Given the description of an element on the screen output the (x, y) to click on. 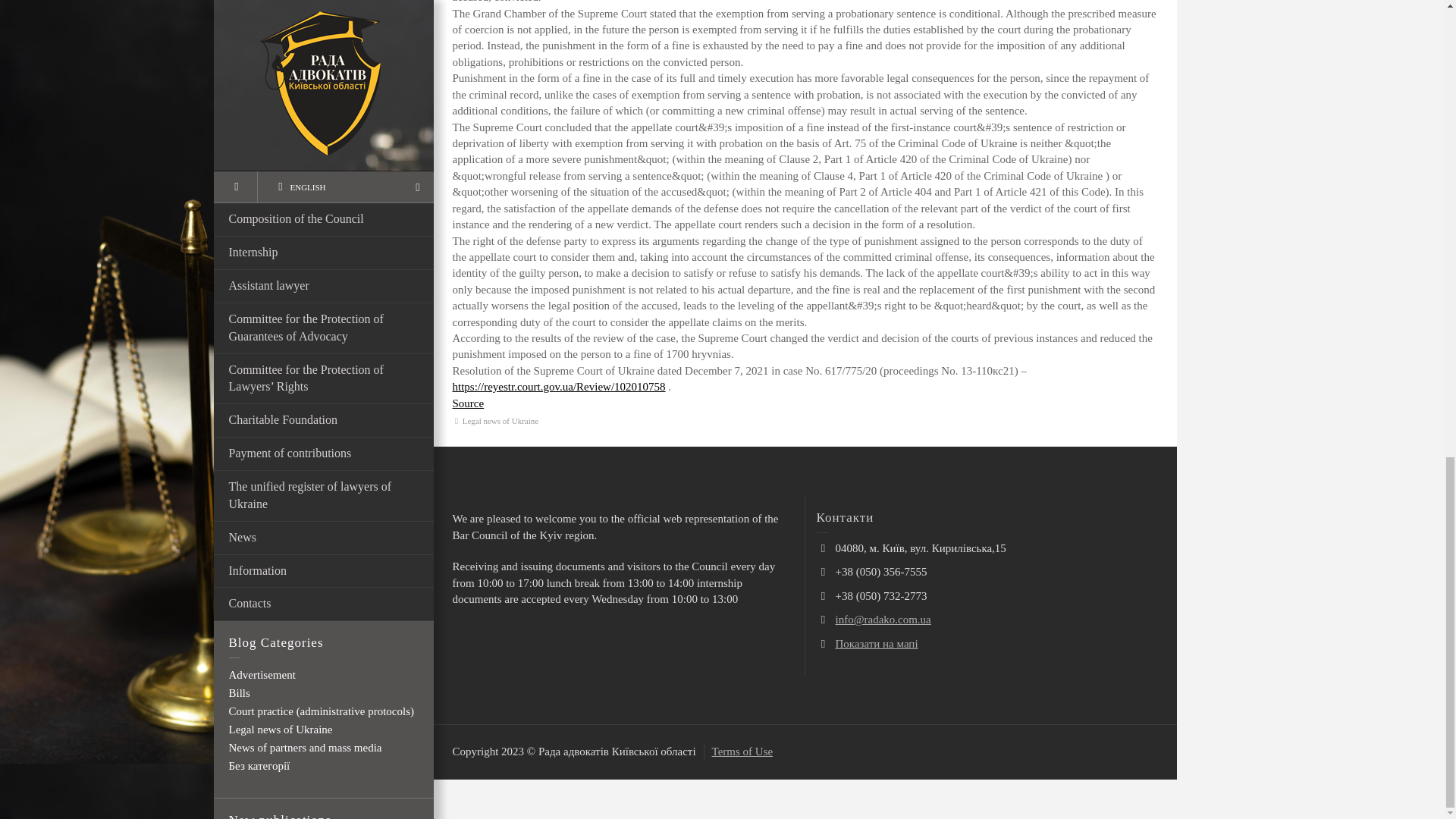
Happy birthday to lawyer Nina Chernobay! (345, 2)
Terms of Use (742, 751)
Legal news of Ukraine (500, 420)
Source (467, 403)
Happy birthday to lawyer Nina Chernobay! (345, 2)
